Given the description of an element on the screen output the (x, y) to click on. 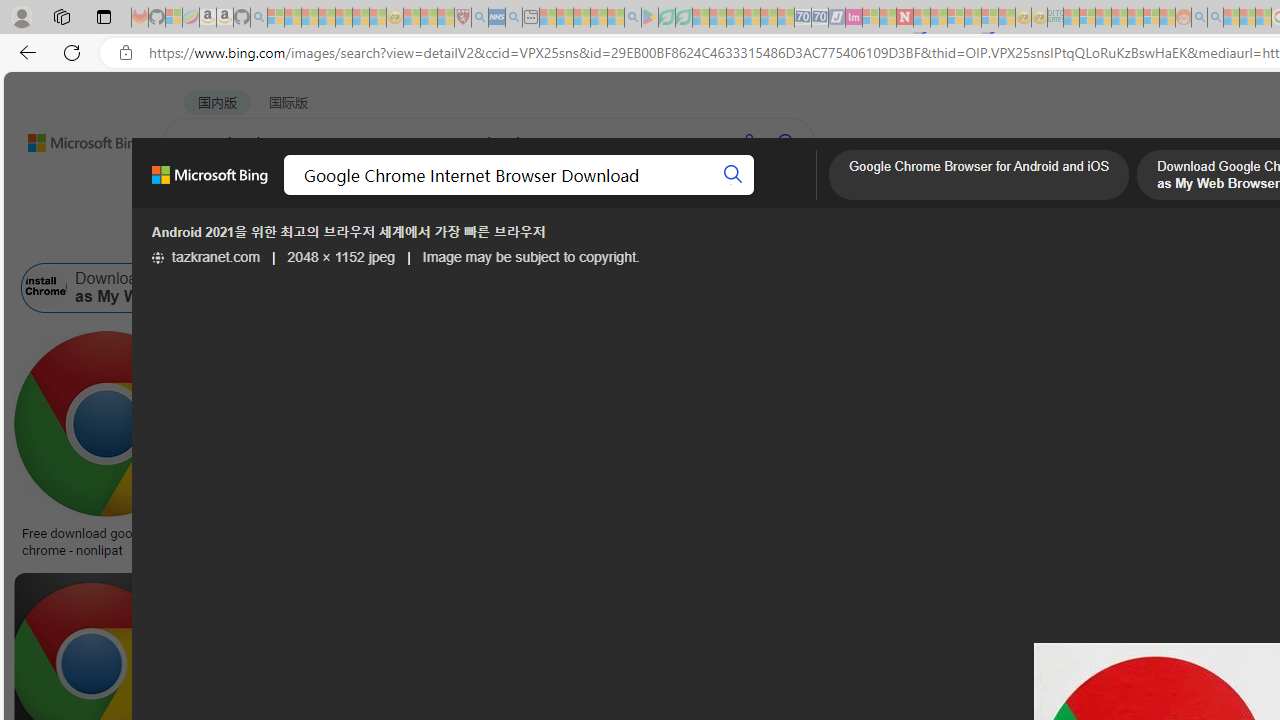
MSNBC - MSN - Sleeping (1071, 17)
MY BING (276, 195)
Watch video (490, 348)
Date (591, 237)
Terms of Use Agreement - Sleeping (666, 17)
Google Chrome Website Download (401, 287)
Search (733, 174)
Utah sues federal government - Search - Sleeping (1215, 17)
Latest Politics News & Archive | Newsweek.com - Sleeping (904, 17)
